Given the description of an element on the screen output the (x, y) to click on. 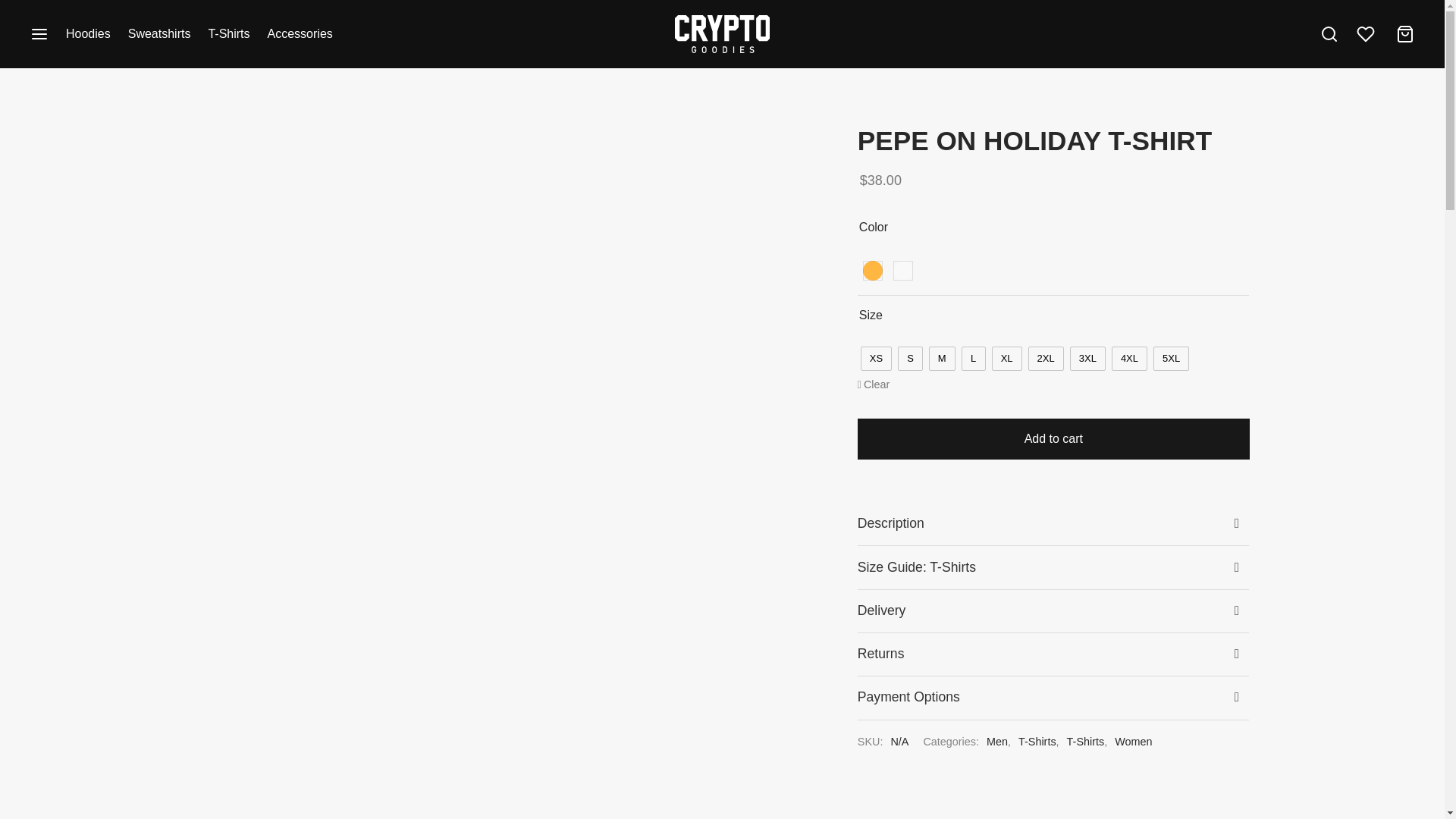
XL (1006, 358)
Add to cart (1053, 438)
Men (997, 742)
Description (1053, 523)
Cart (1404, 34)
Sweatshirts (159, 34)
Returns (1053, 653)
S (910, 358)
2XL (1045, 358)
M (941, 358)
